Given the description of an element on the screen output the (x, y) to click on. 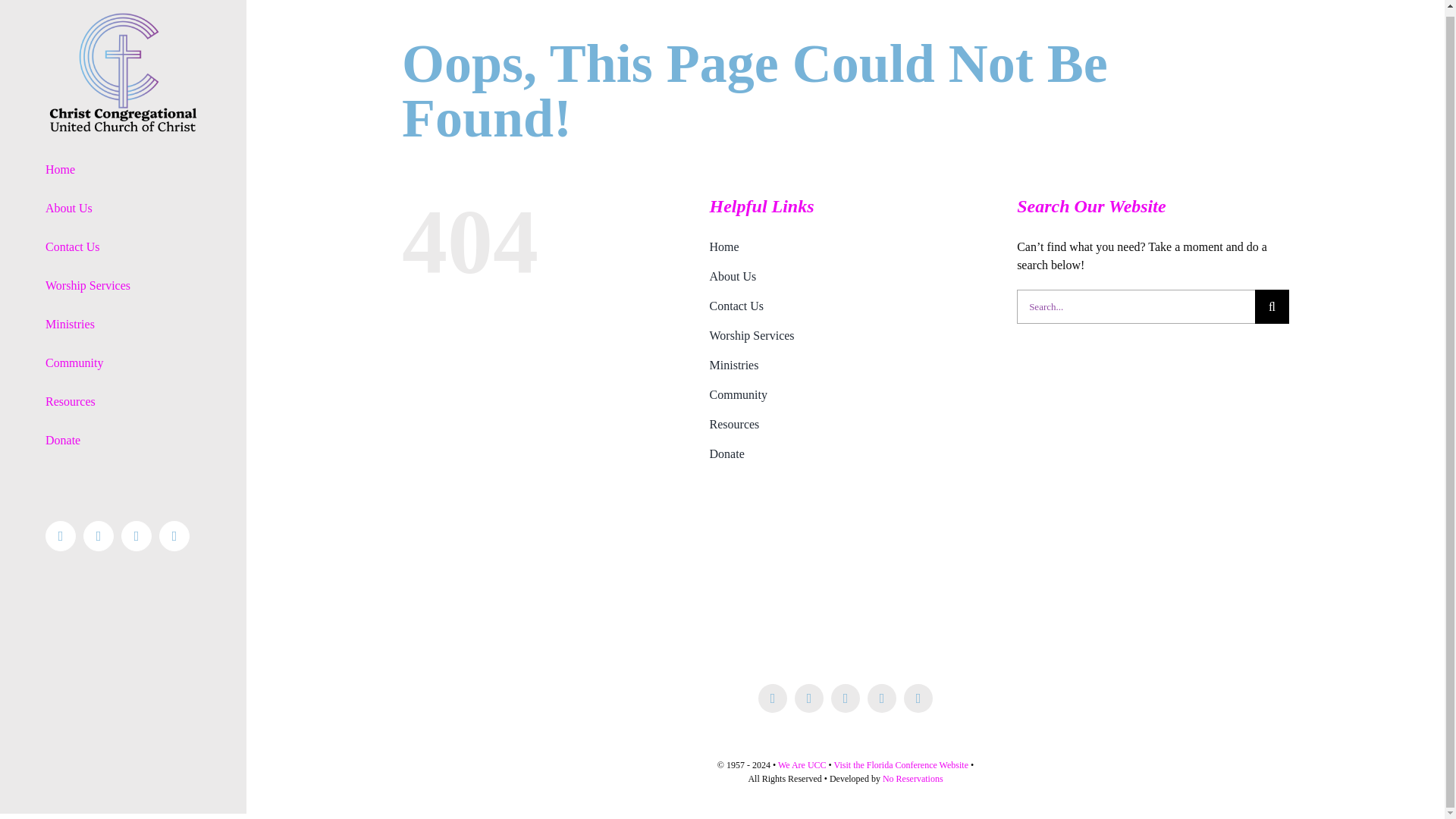
Instagram (135, 535)
Resources (123, 402)
Donate (123, 440)
YouTube (173, 535)
Worship Services (123, 285)
Instagram (809, 697)
Community (845, 394)
No Reservations (912, 778)
YouTube (173, 535)
Home (845, 247)
